Given the description of an element on the screen output the (x, y) to click on. 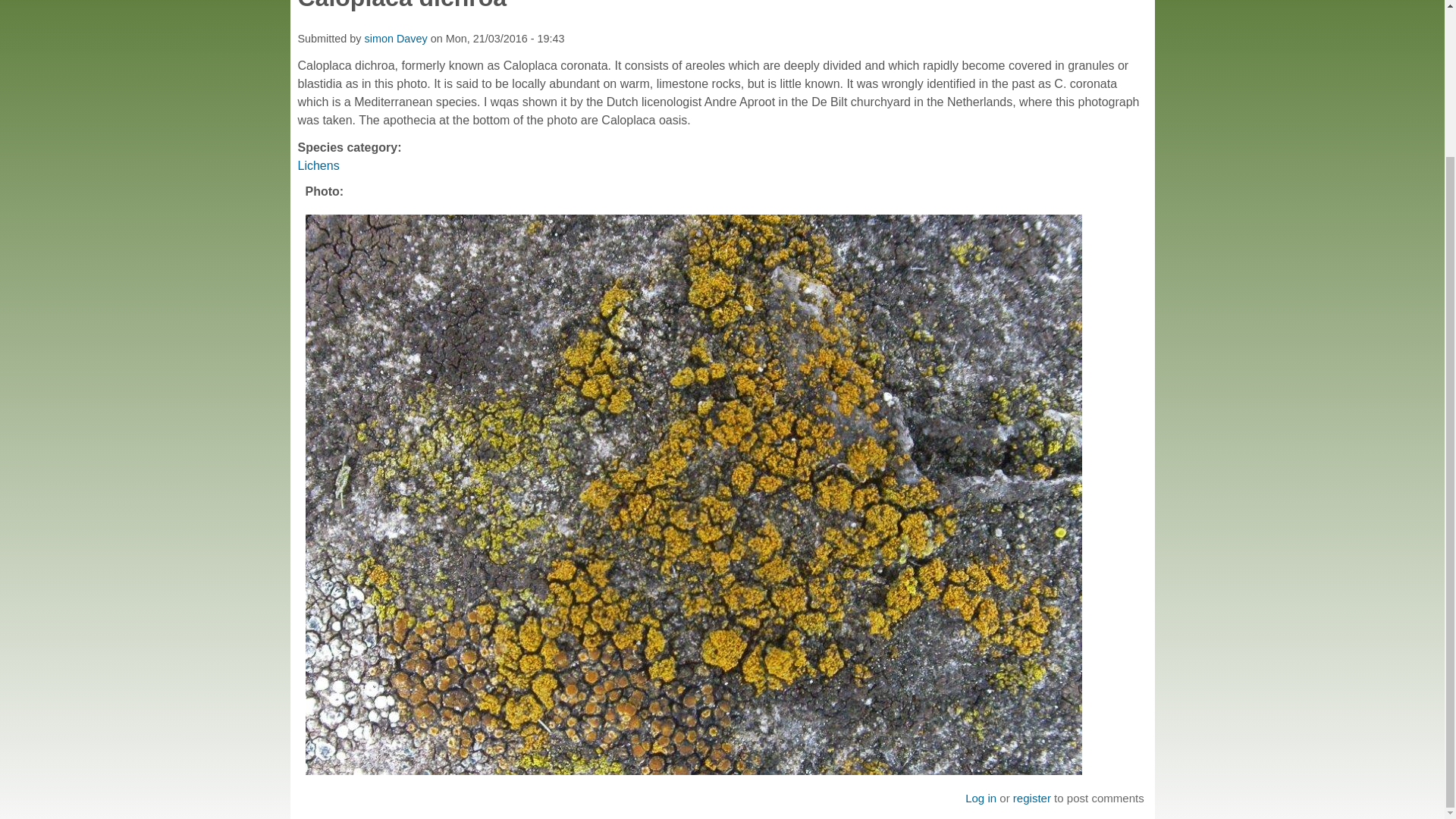
simon Davey (395, 38)
register (1032, 797)
Lichens (318, 164)
Log in (980, 797)
View user profile. (395, 38)
